Given the description of an element on the screen output the (x, y) to click on. 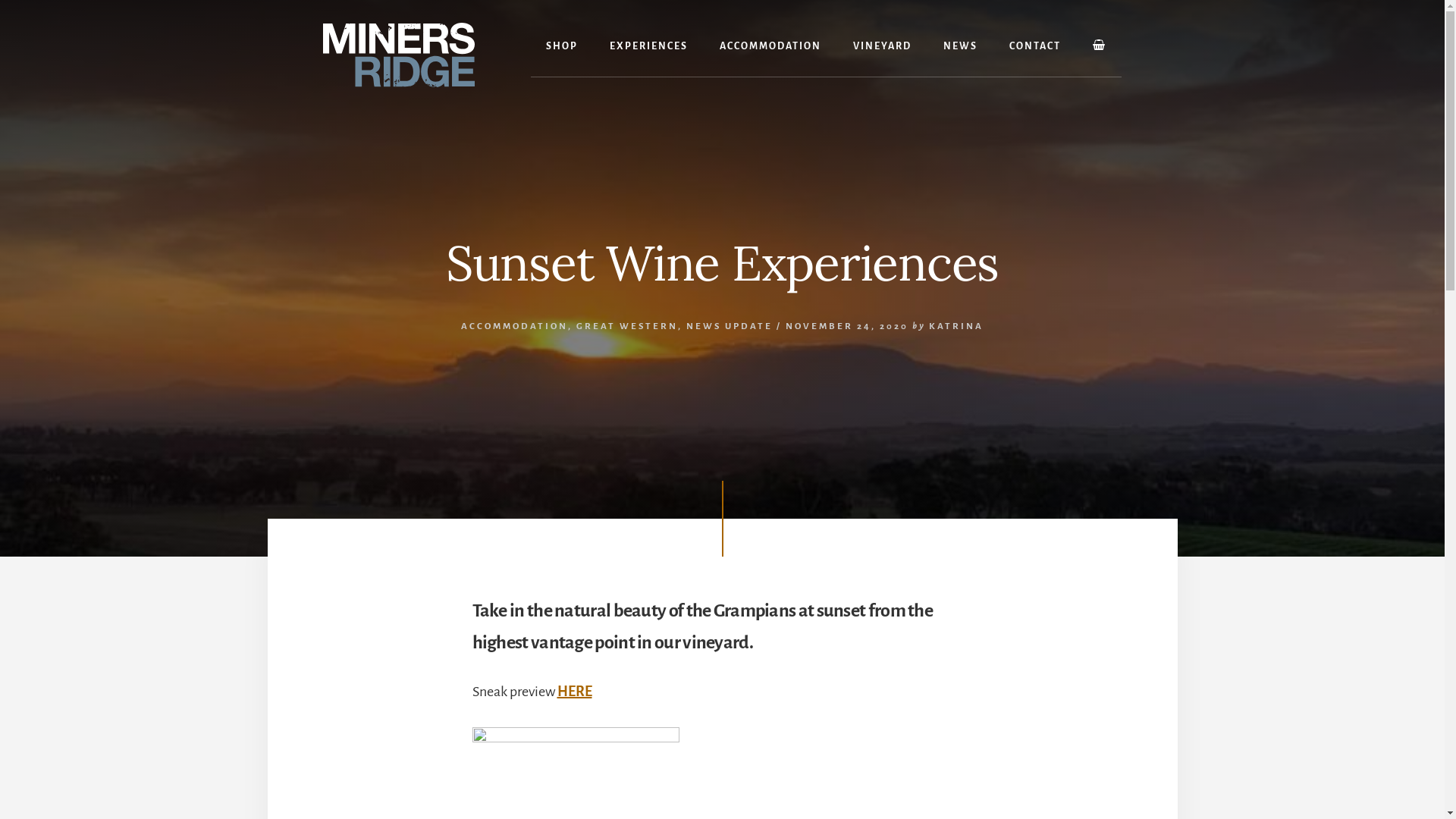
NEWS Element type: text (960, 46)
ACCOMMODATION Element type: text (514, 326)
Skip to content Element type: text (0, 0)
SHOP Element type: text (561, 46)
KATRINA Element type: text (955, 326)
VINEYARD Element type: text (881, 46)
EXPERIENCES Element type: text (648, 46)
NEWS UPDATE Element type: text (729, 326)
HERE Element type: text (573, 691)
GREAT WESTERN Element type: text (626, 326)
ACCOMMODATION Element type: text (770, 46)
CONTACT Element type: text (1035, 46)
